Given the description of an element on the screen output the (x, y) to click on. 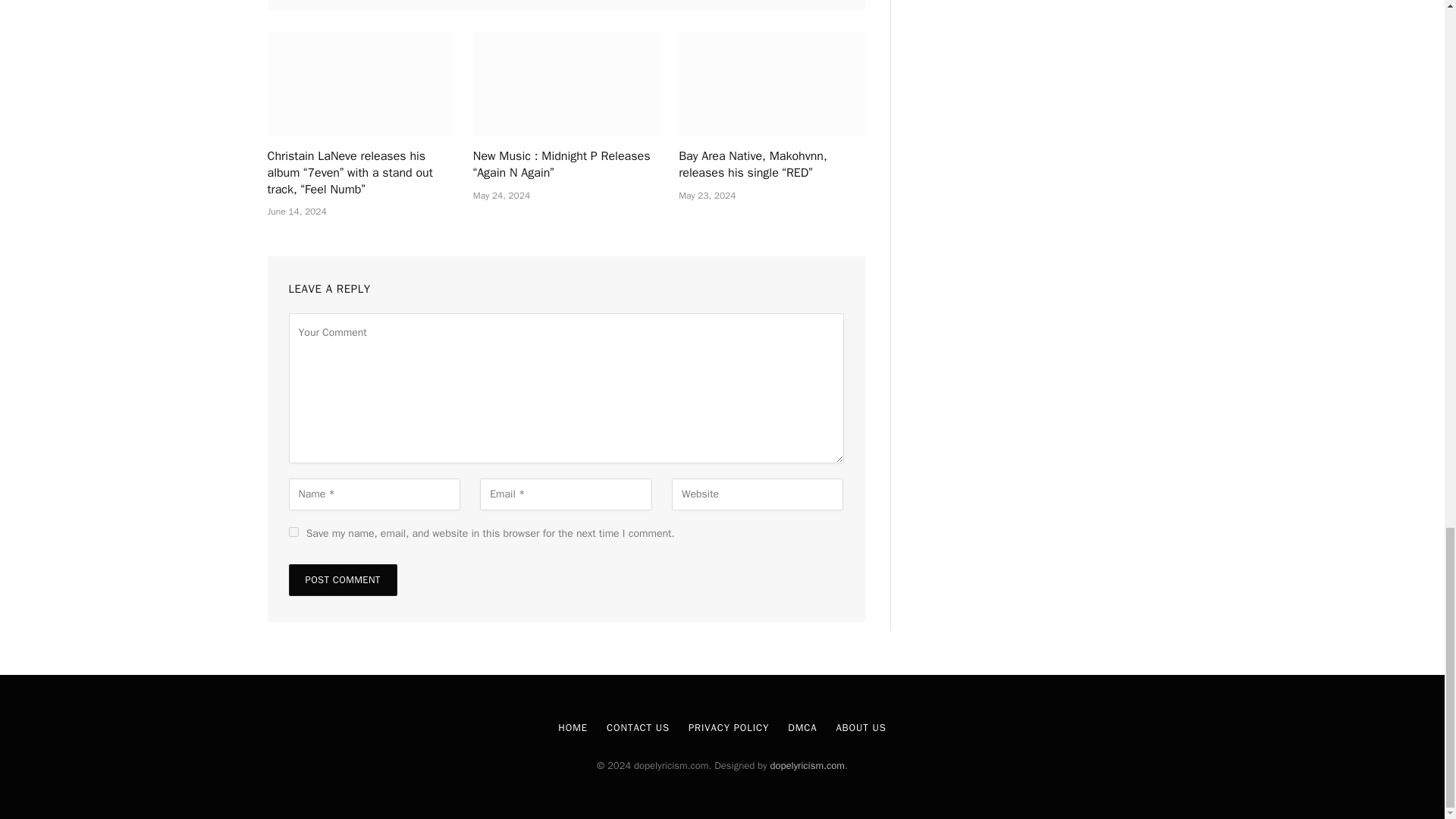
yes (293, 532)
Post Comment (342, 580)
